Given the description of an element on the screen output the (x, y) to click on. 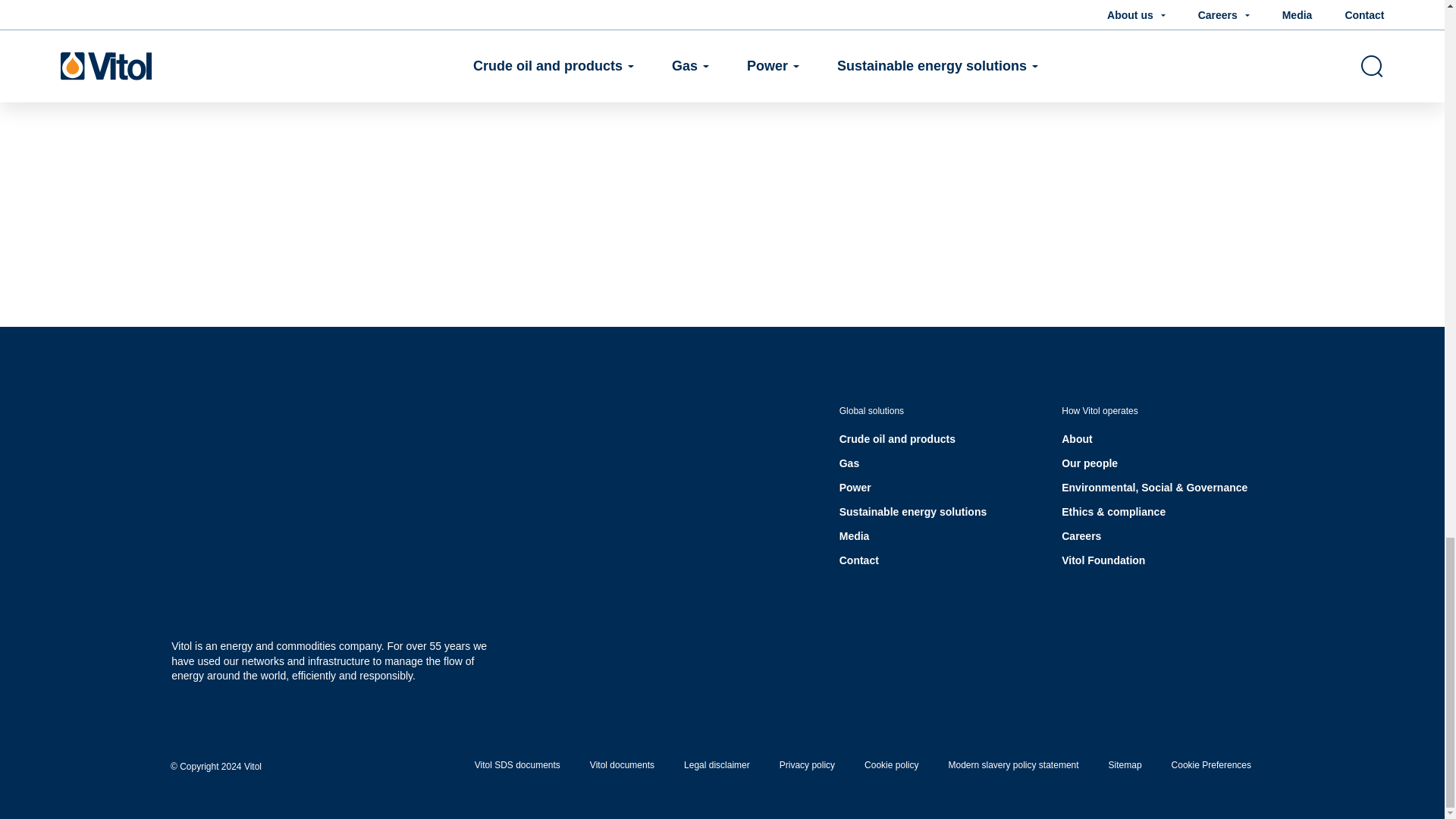
Vitol documents (621, 765)
Vitol SDS documents (517, 765)
Cookie policy (891, 765)
Legal disclaimer (716, 765)
Sitemap (1124, 765)
Modern slavery policy statement (1012, 765)
Privacy policy (806, 765)
Cookie Preferences (1211, 765)
